Given the description of an element on the screen output the (x, y) to click on. 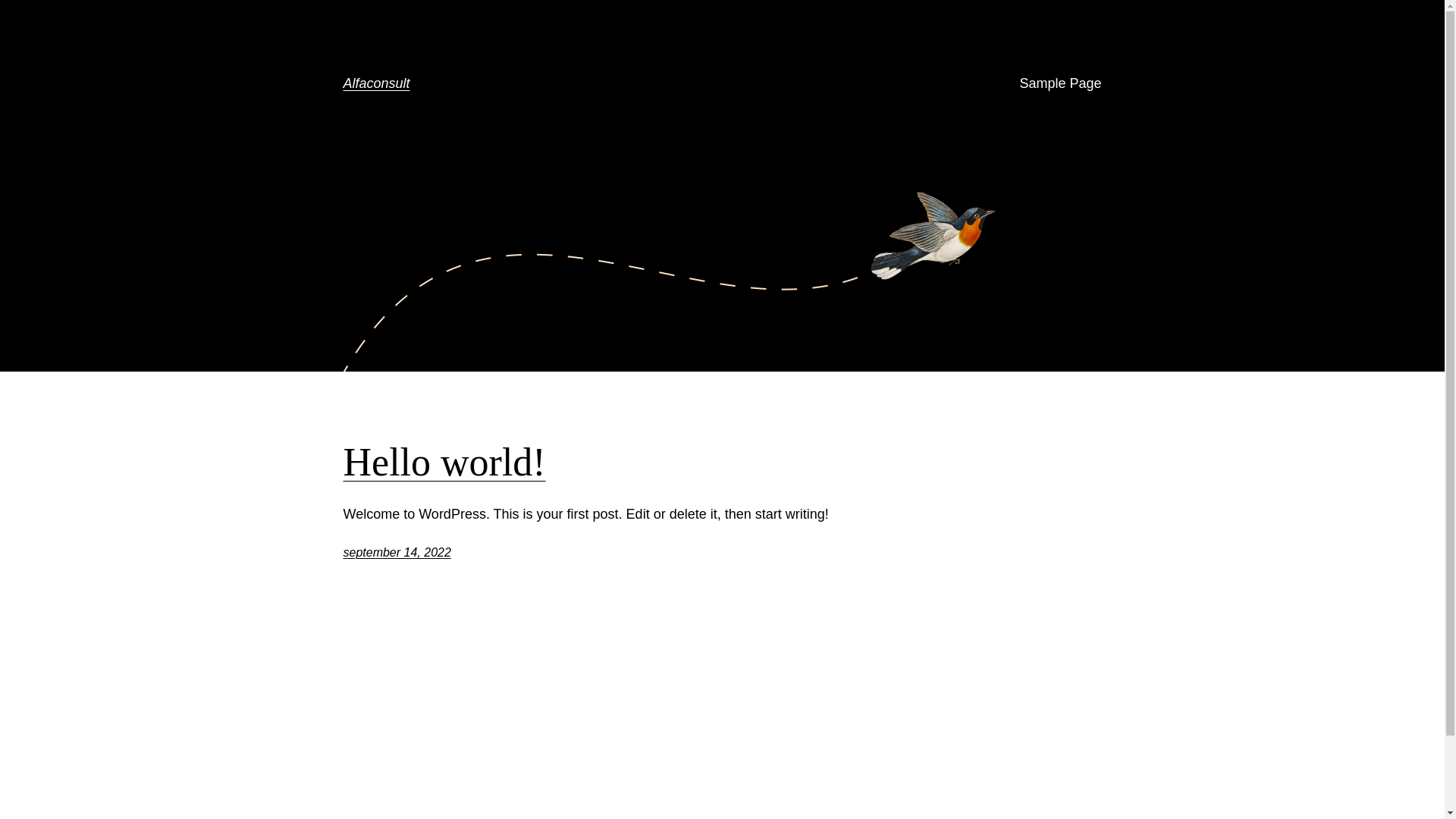
Alfaconsult Element type: text (375, 83)
september 14, 2022 Element type: text (396, 552)
Sample Page Element type: text (1060, 83)
Hello world! Element type: text (443, 462)
